Given the description of an element on the screen output the (x, y) to click on. 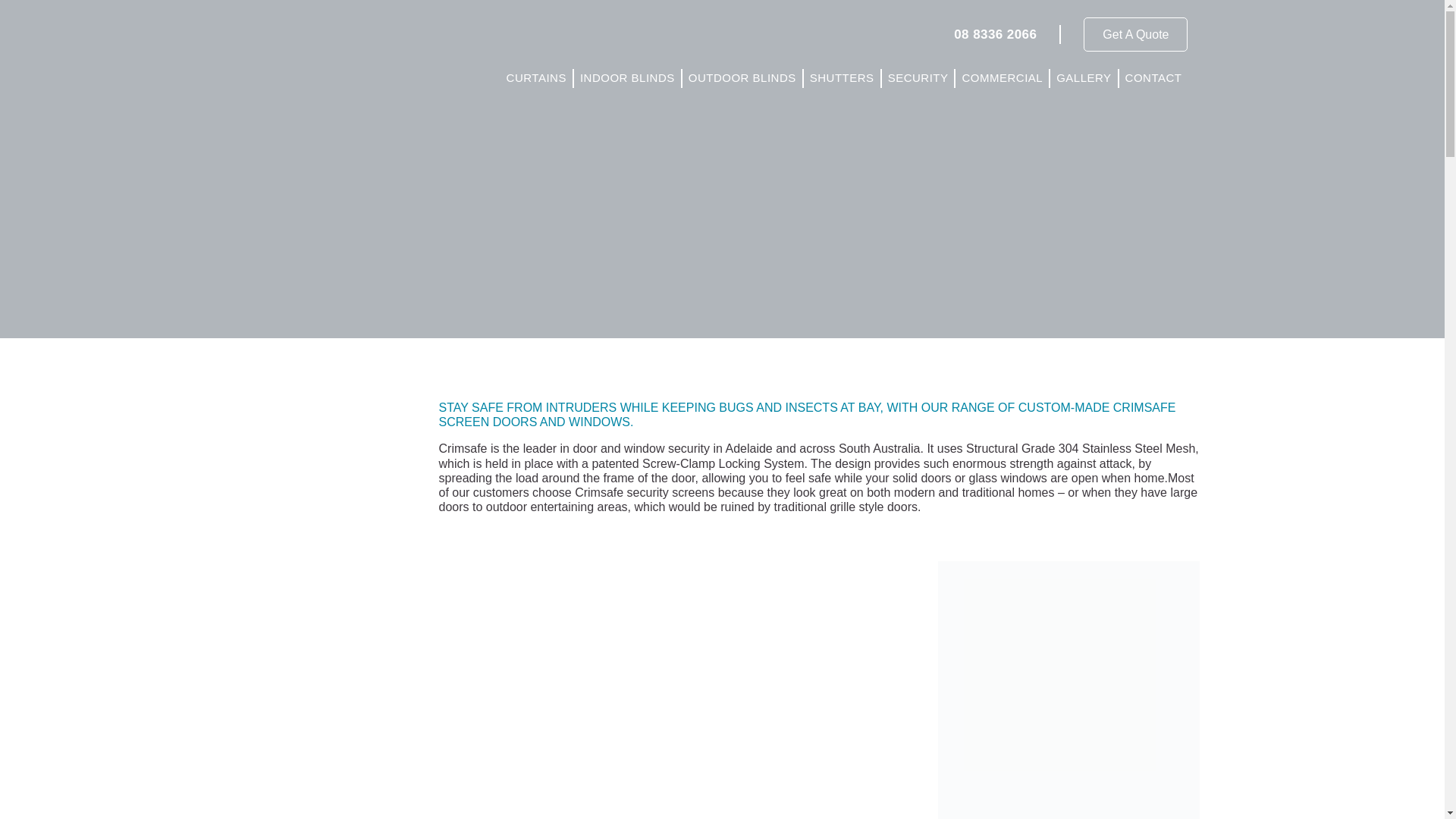
INDOOR BLINDS (627, 78)
SECURITY (918, 78)
Get A Quote (1135, 34)
OUTDOOR BLINDS (742, 78)
SHUTTERS (841, 78)
08 8336 2066 (994, 34)
CURTAINS (536, 78)
